Given the description of an element on the screen output the (x, y) to click on. 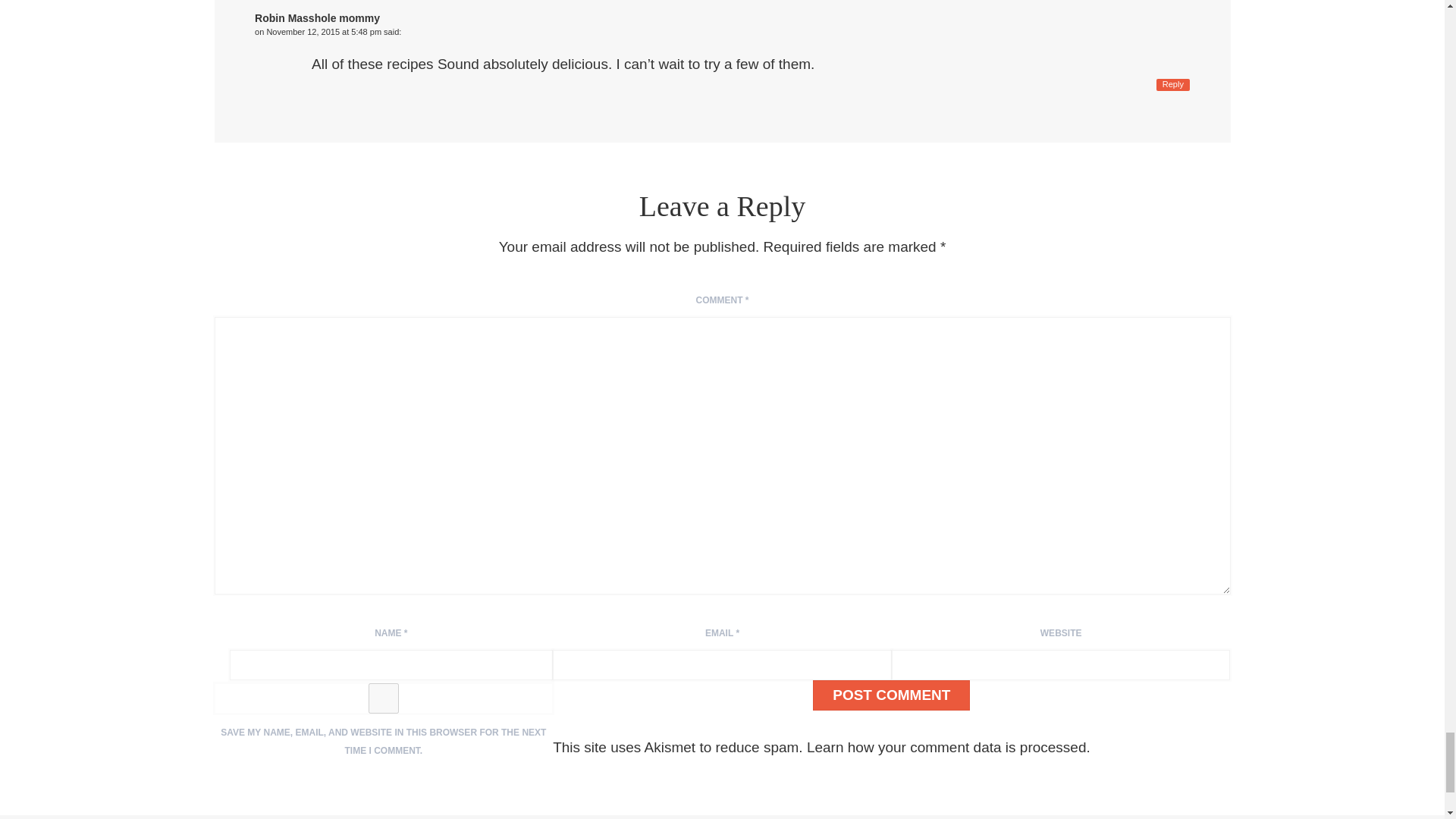
Post Comment (890, 695)
yes (383, 698)
